Given the description of an element on the screen output the (x, y) to click on. 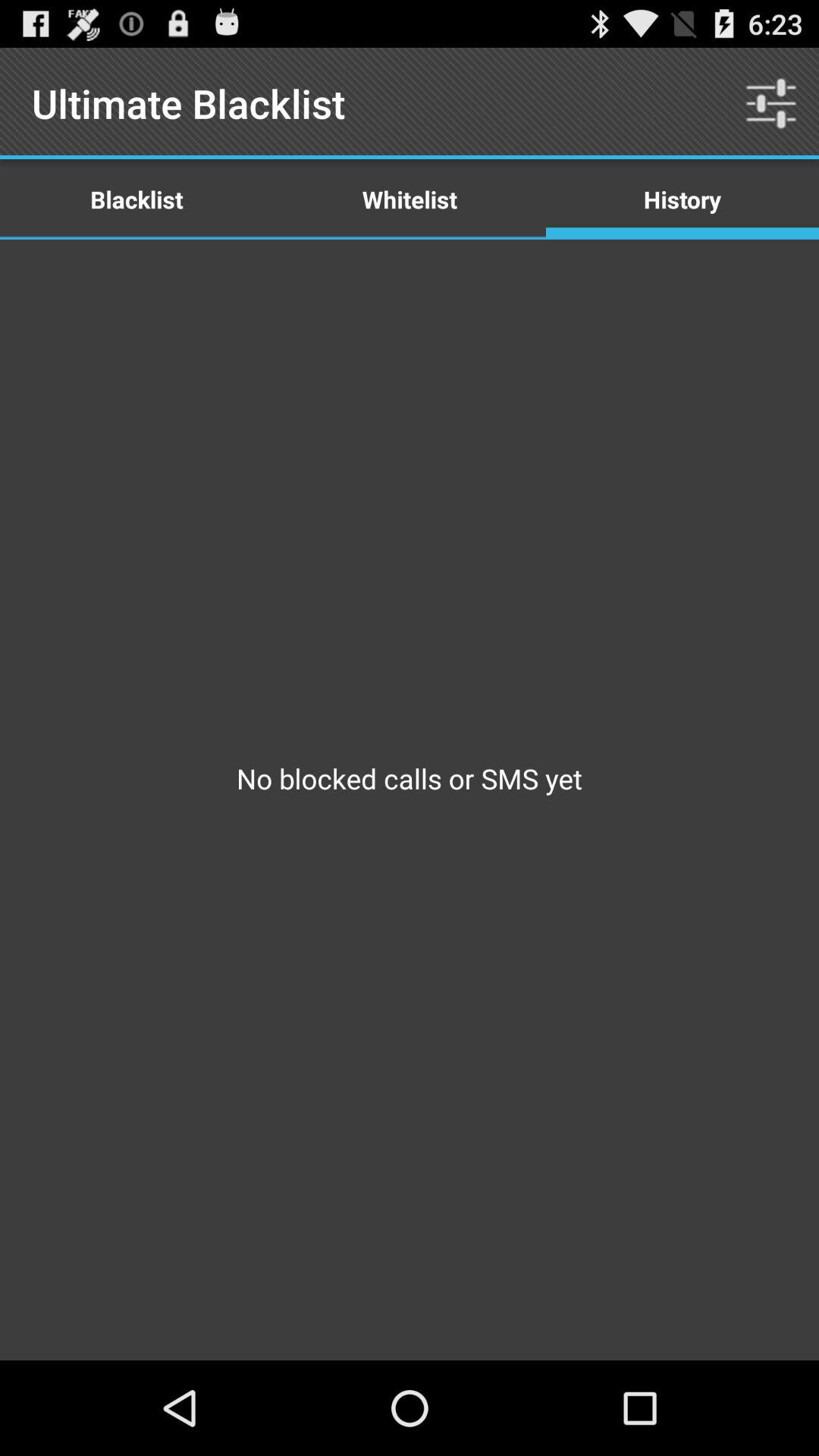
tap icon below ultimate blacklist (409, 199)
